Given the description of an element on the screen output the (x, y) to click on. 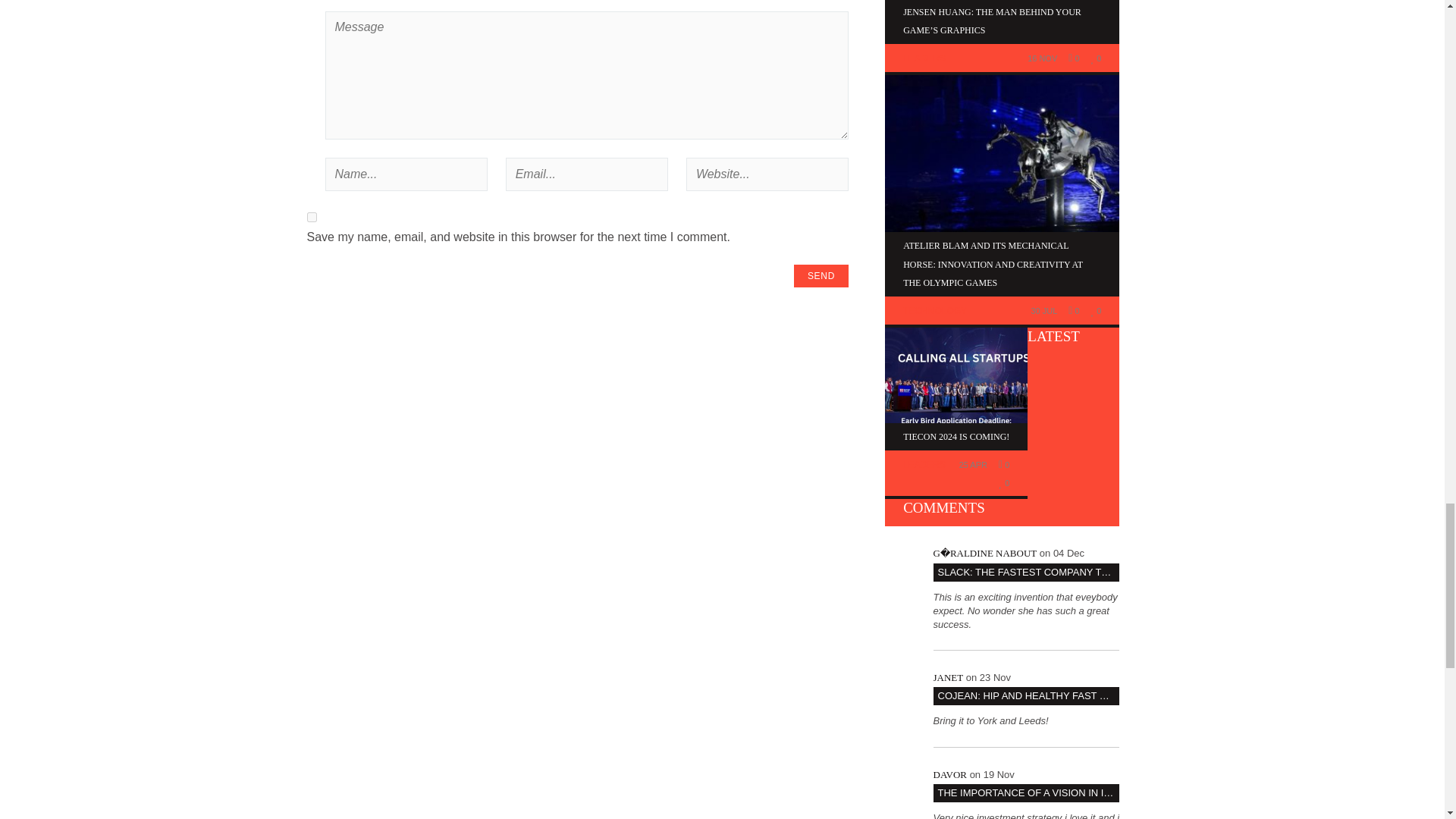
Send (820, 275)
yes (310, 216)
Send (820, 275)
